Given the description of an element on the screen output the (x, y) to click on. 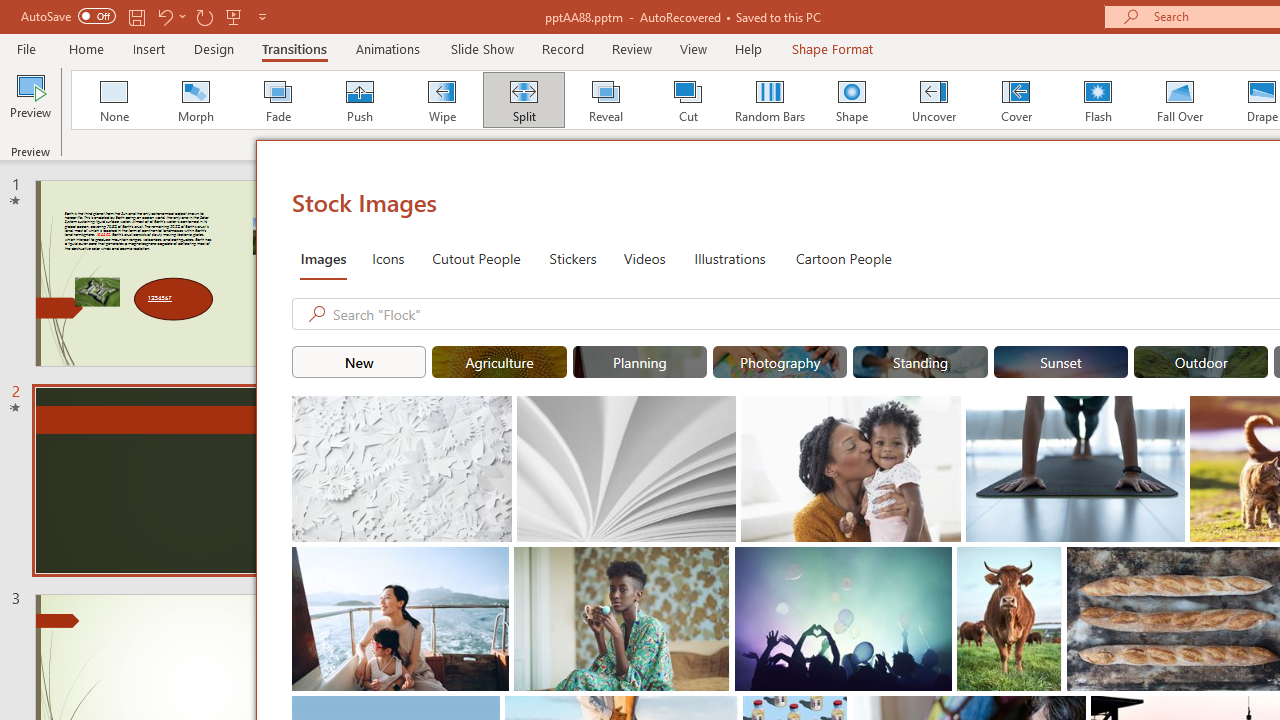
None (113, 100)
Customize Quick Access Toolbar (262, 15)
Morph (195, 100)
Split (523, 100)
Transitions (294, 48)
"Sunset" Stock Images. (1060, 362)
Slide Show (481, 48)
View (693, 48)
More Options (182, 15)
Random Bars (770, 100)
Undo (170, 15)
Fall Over (1180, 100)
Cartoon People (843, 258)
